Given the description of an element on the screen output the (x, y) to click on. 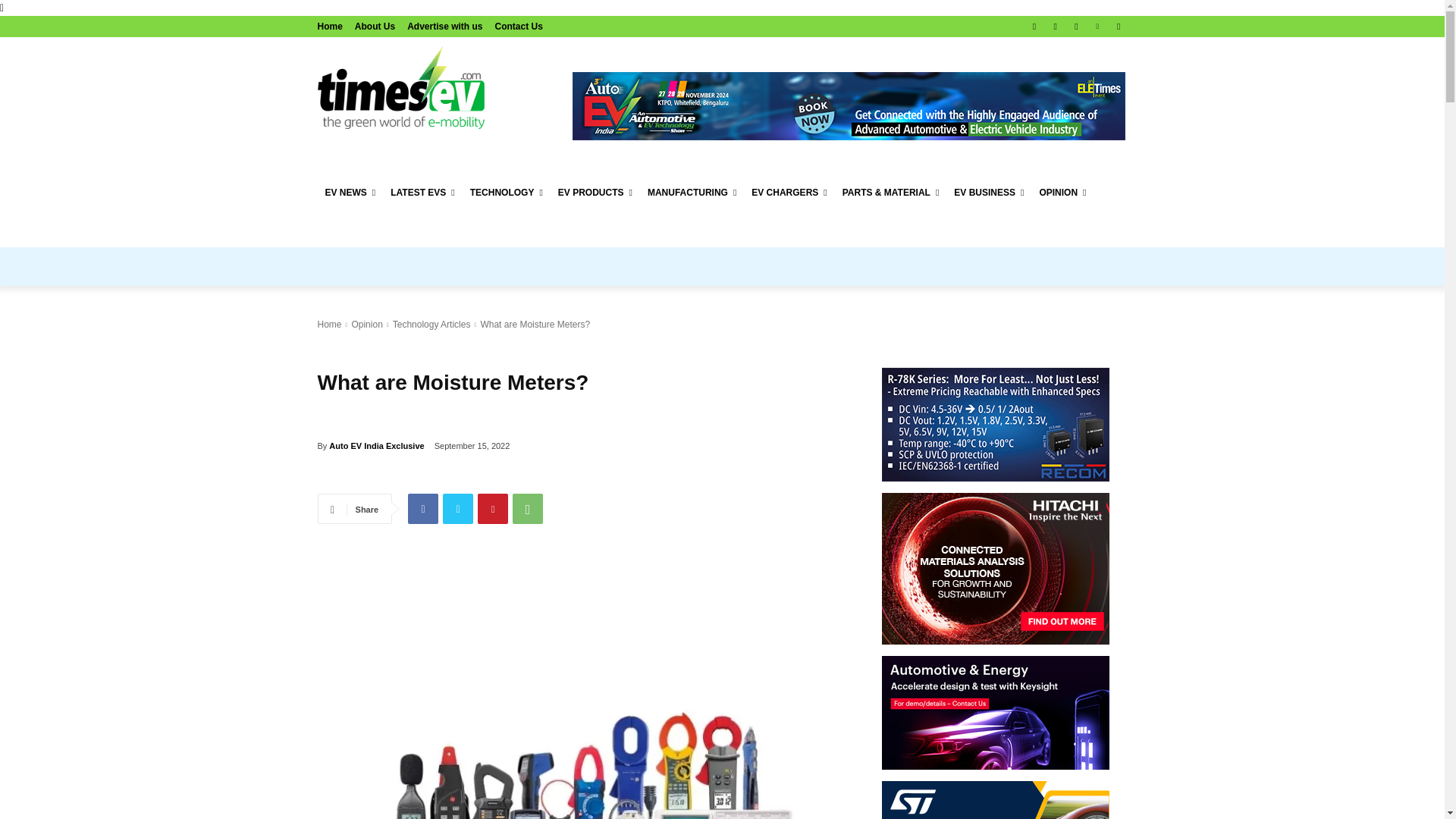
About Us (374, 25)
Youtube (1117, 27)
Facebook (1034, 27)
Contact Us (519, 25)
Instagram (1055, 27)
Vimeo (1097, 27)
Home (329, 25)
Twitter (1075, 27)
Advertise with us (444, 25)
